Given the description of an element on the screen output the (x, y) to click on. 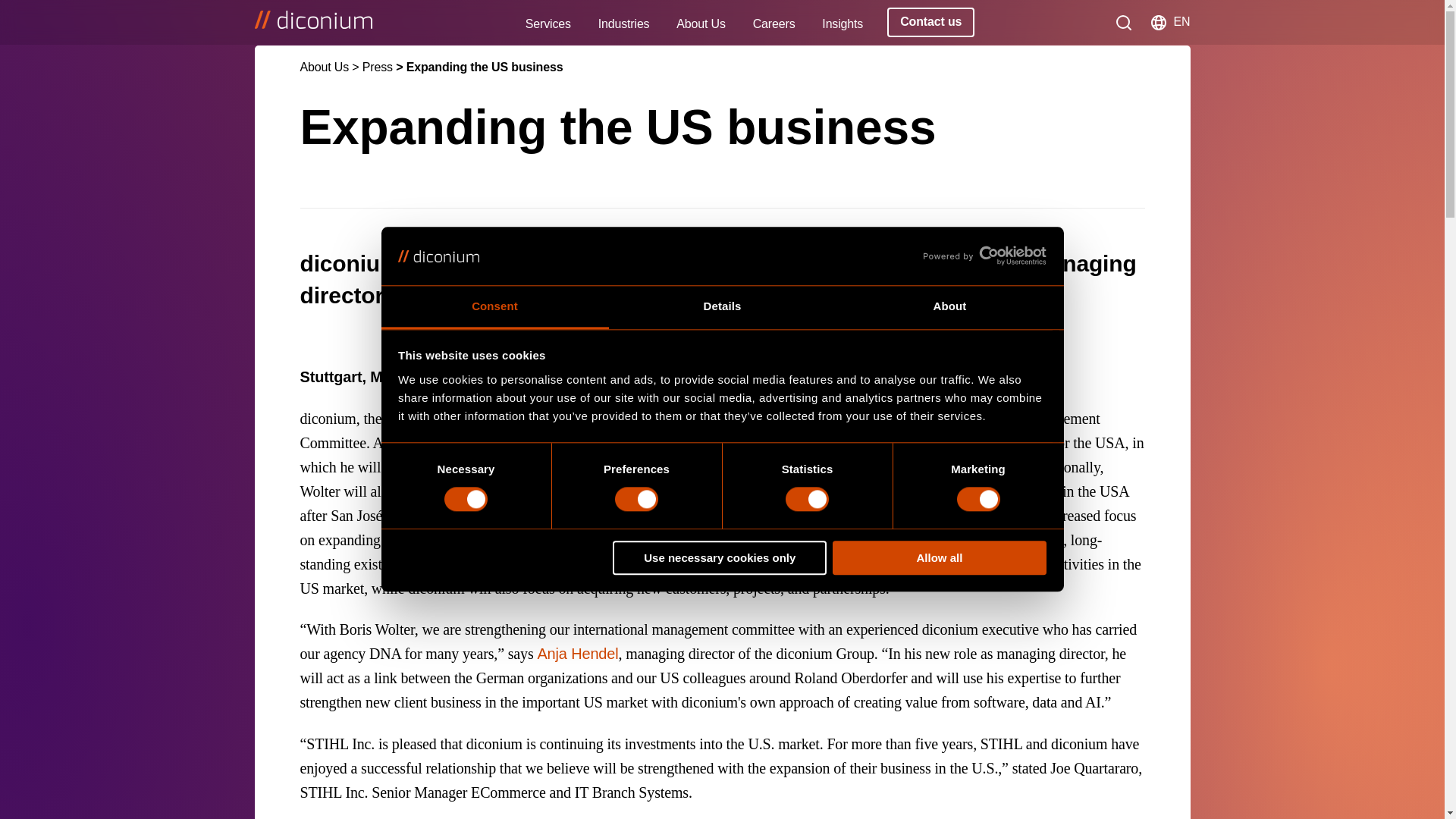
Details (721, 307)
About (948, 307)
Consent (494, 307)
